Given the description of an element on the screen output the (x, y) to click on. 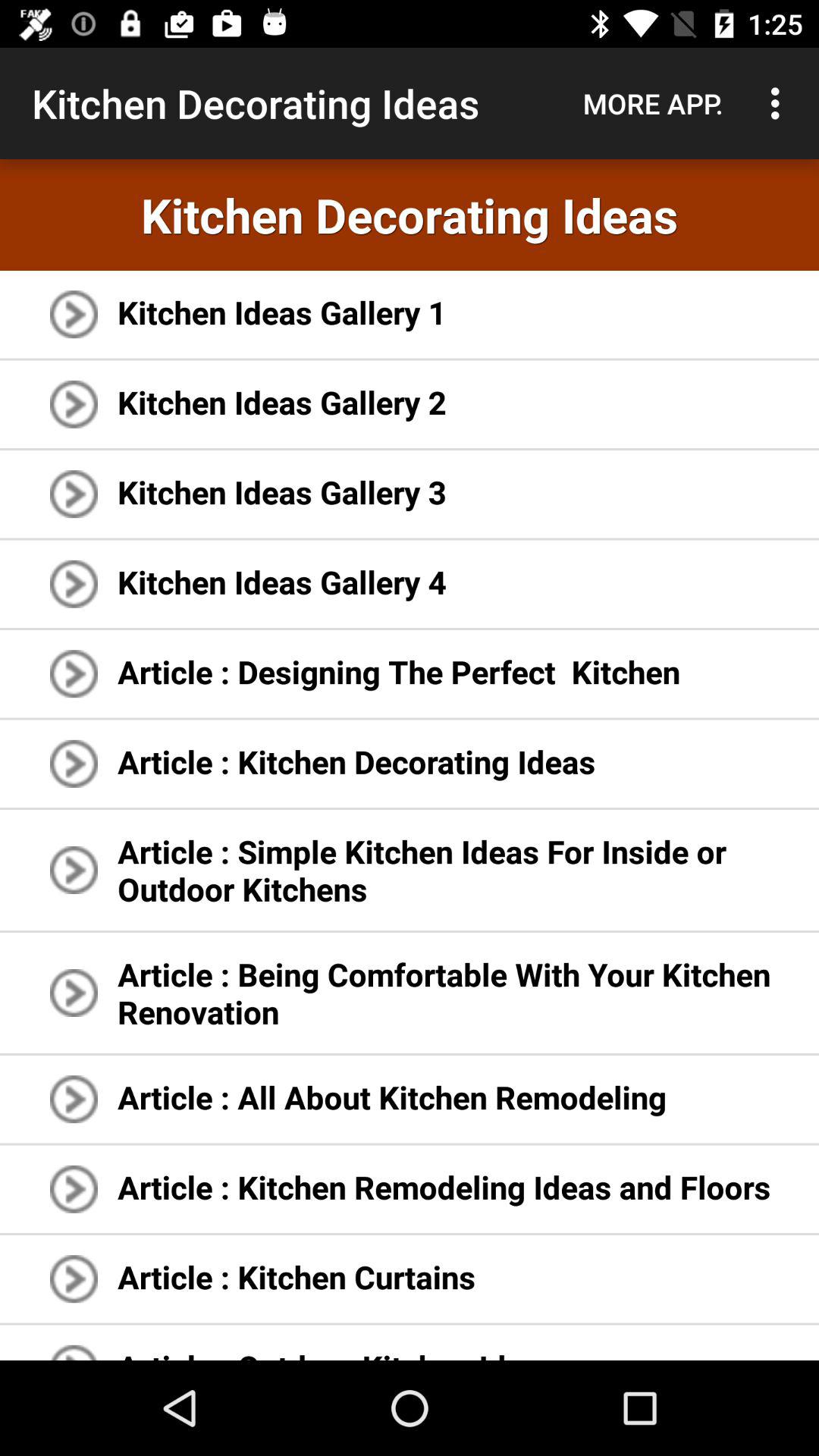
scroll until more app. icon (653, 103)
